Given the description of an element on the screen output the (x, y) to click on. 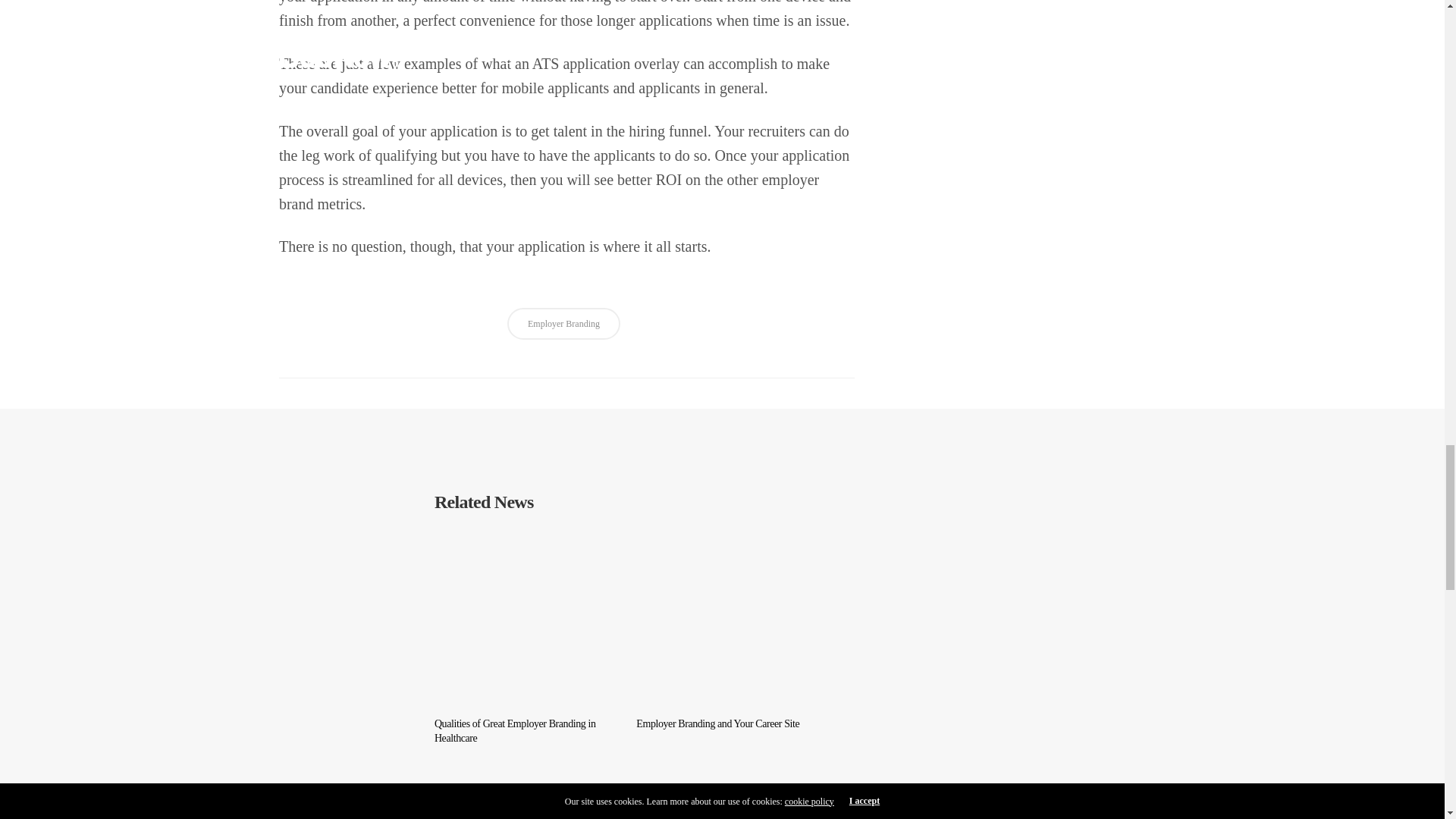
Employer Branding (563, 323)
Employer Branding and Your Career Site (722, 724)
Qualities of Great Employer Branding in Healthcare (519, 731)
Qualities of Great Employer Branding in Healthcare (519, 615)
Employer Branding and Your Career Site (722, 615)
